Given the description of an element on the screen output the (x, y) to click on. 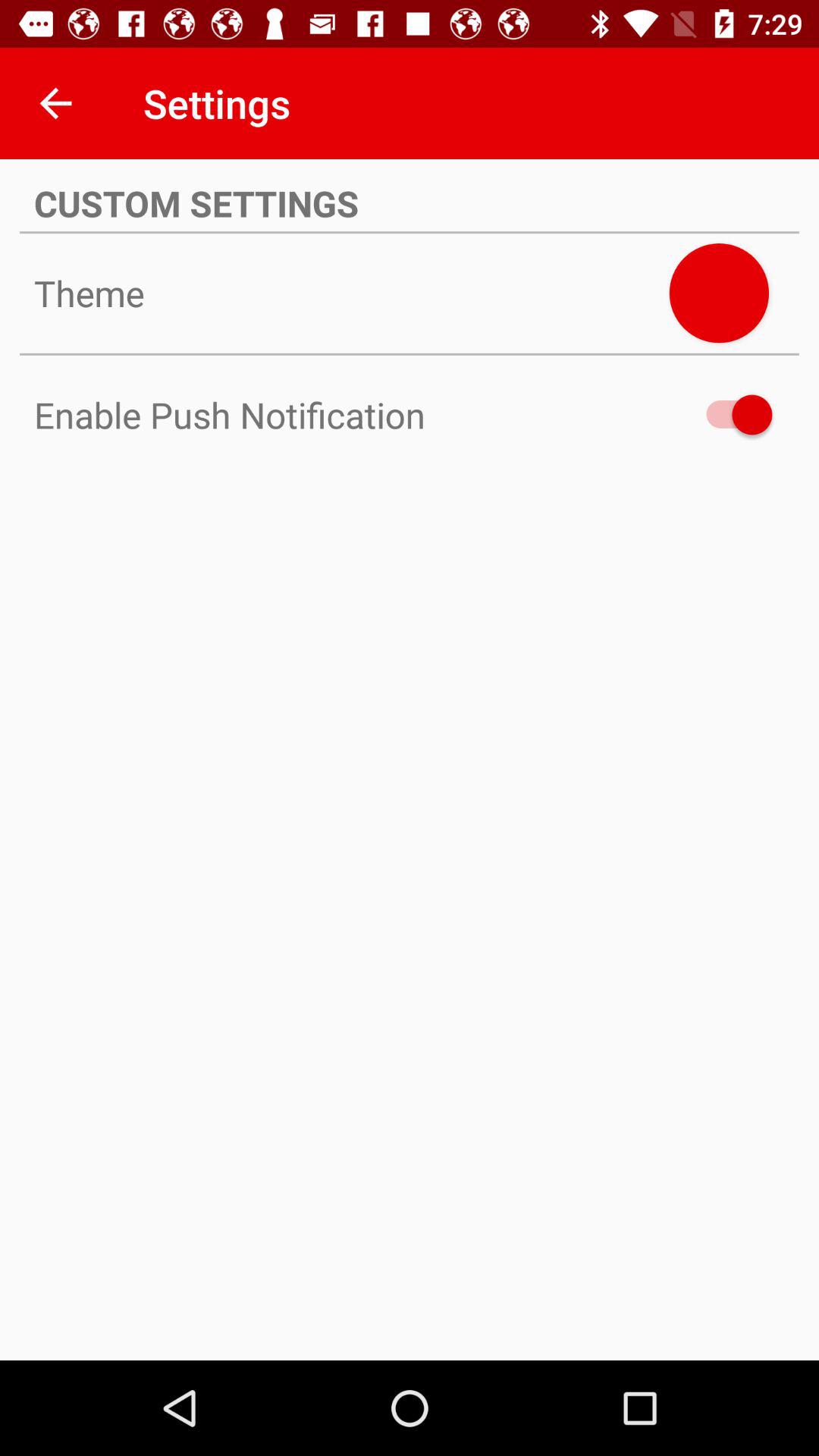
enable push notification (718, 292)
